Given the description of an element on the screen output the (x, y) to click on. 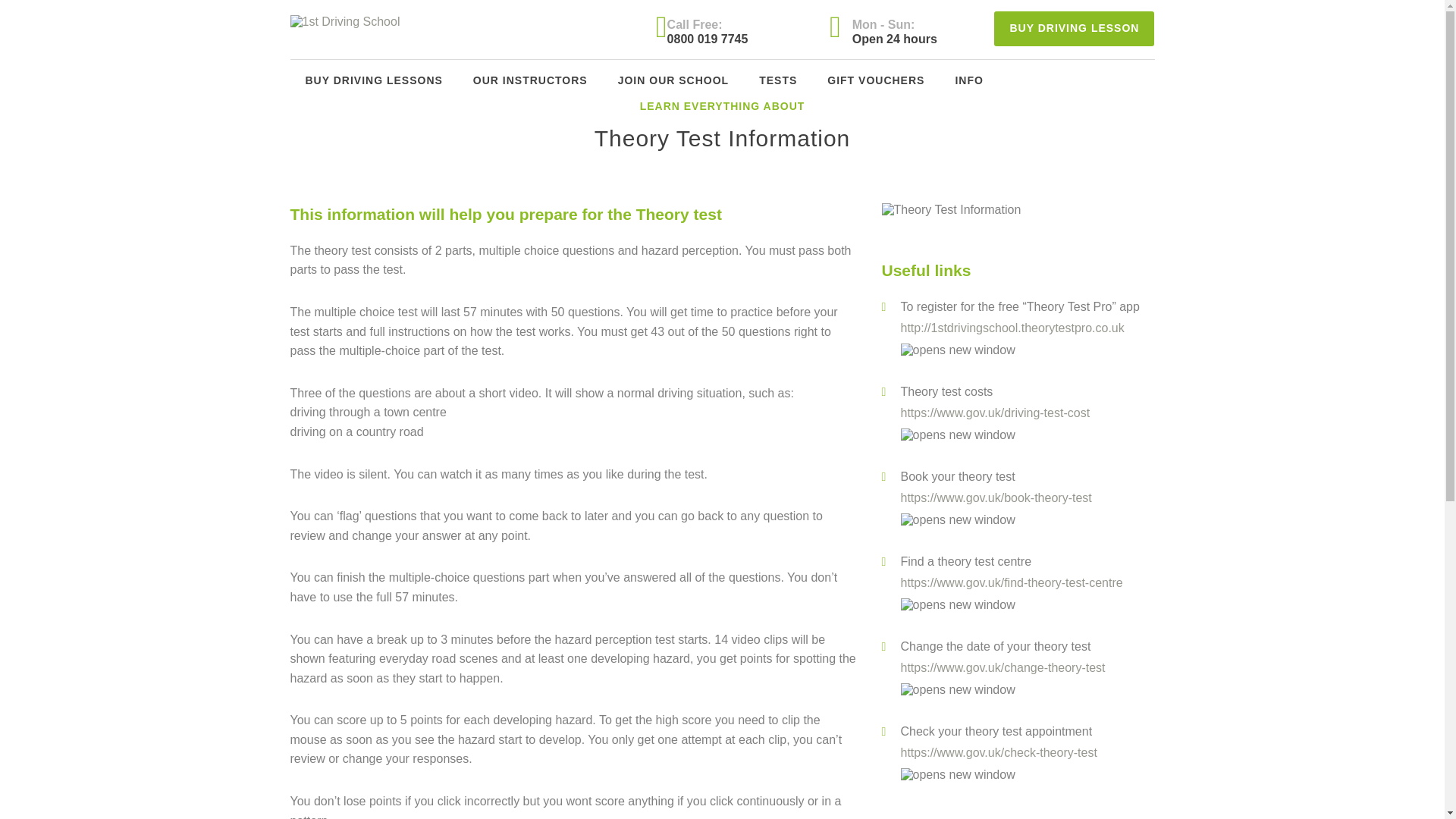
BUY DRIVING LESSONS (373, 79)
BUY DRIVING LESSON (1074, 28)
INFO (968, 79)
Buy Driving Lessons (731, 29)
TESTS (1074, 28)
View Our Instructors (778, 79)
Join Our Team (530, 79)
OUR INSTRUCTORS (673, 79)
JOIN OUR SCHOOL (530, 79)
Learn more about Theory and Driving Tests (673, 79)
GIFT VOUCHERS (778, 79)
Buy Driving Lessons (875, 79)
Call free on 0800 019 7745 (373, 79)
